Given the description of an element on the screen output the (x, y) to click on. 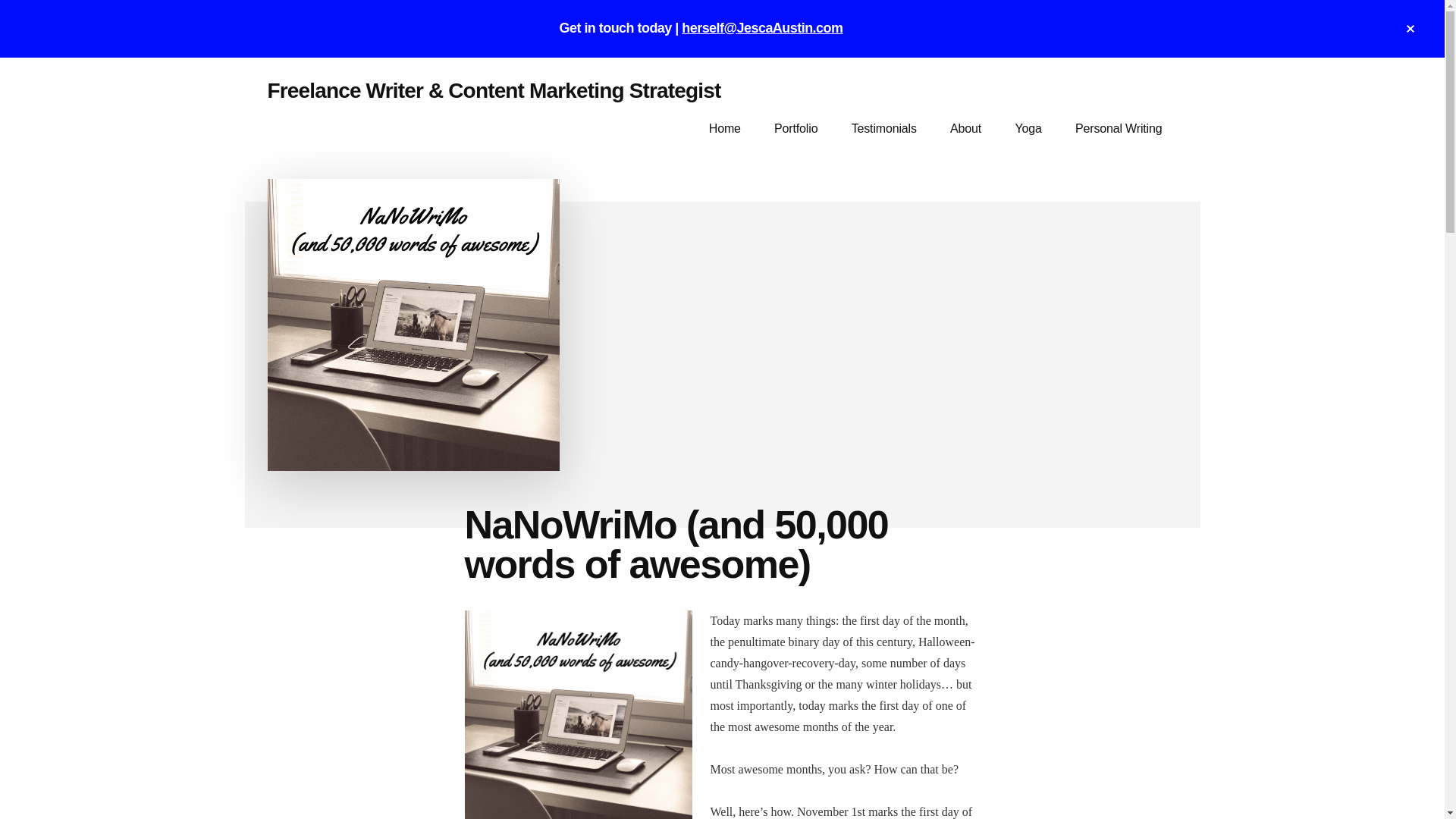
About (964, 128)
Home (724, 128)
Yoga (1027, 128)
Personal Writing (1118, 128)
Portfolio (795, 128)
Testimonials (883, 128)
